Given the description of an element on the screen output the (x, y) to click on. 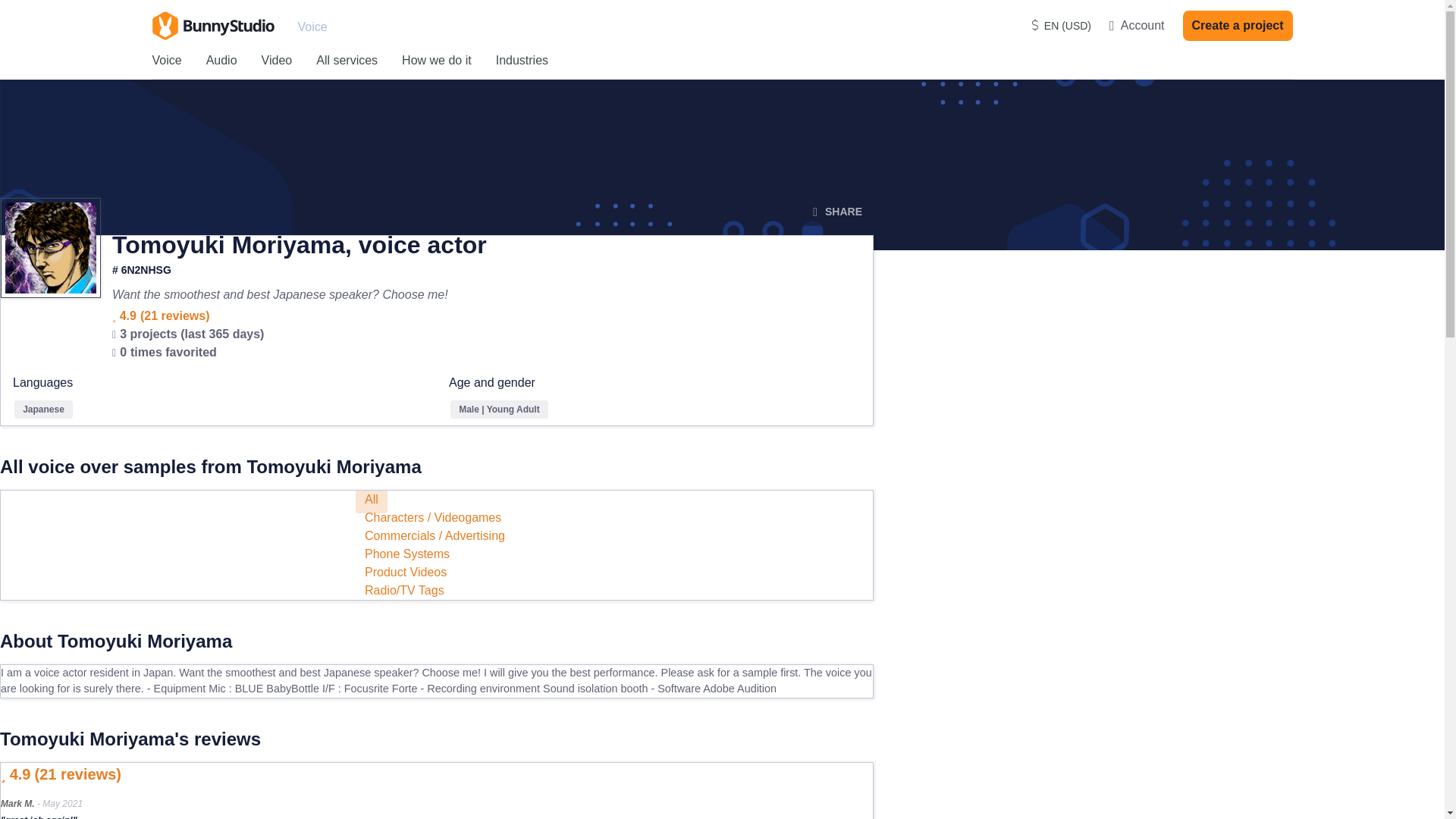
Audio (221, 60)
Create a project (1237, 25)
Voice (165, 60)
All services (346, 60)
Account (1136, 25)
Video (277, 60)
